Given the description of an element on the screen output the (x, y) to click on. 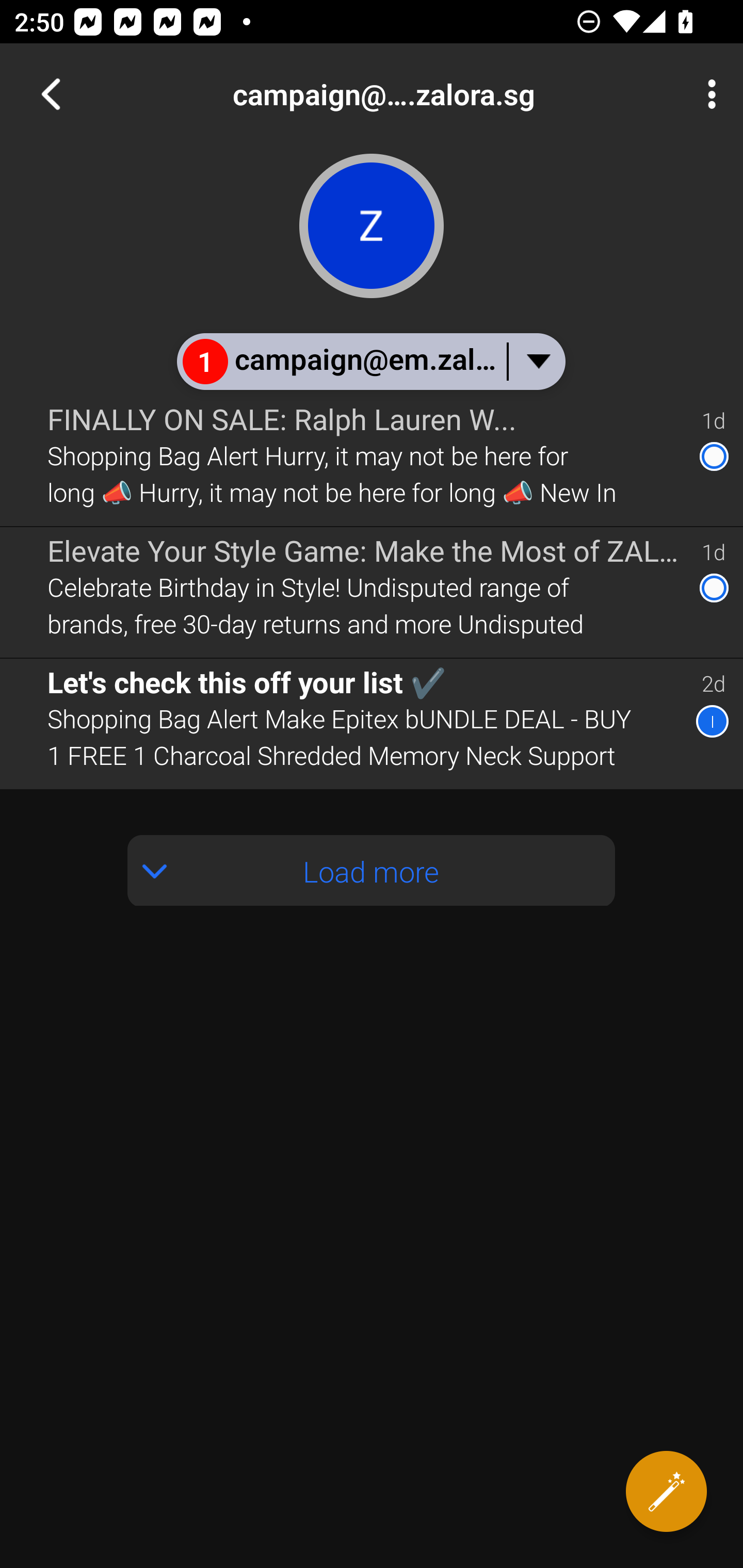
Navigate up (50, 93)
campaign@em.zalora.sg (436, 93)
More Options (706, 93)
1 campaign@em.zalora.sg & You (370, 361)
Load more (371, 870)
